Given the description of an element on the screen output the (x, y) to click on. 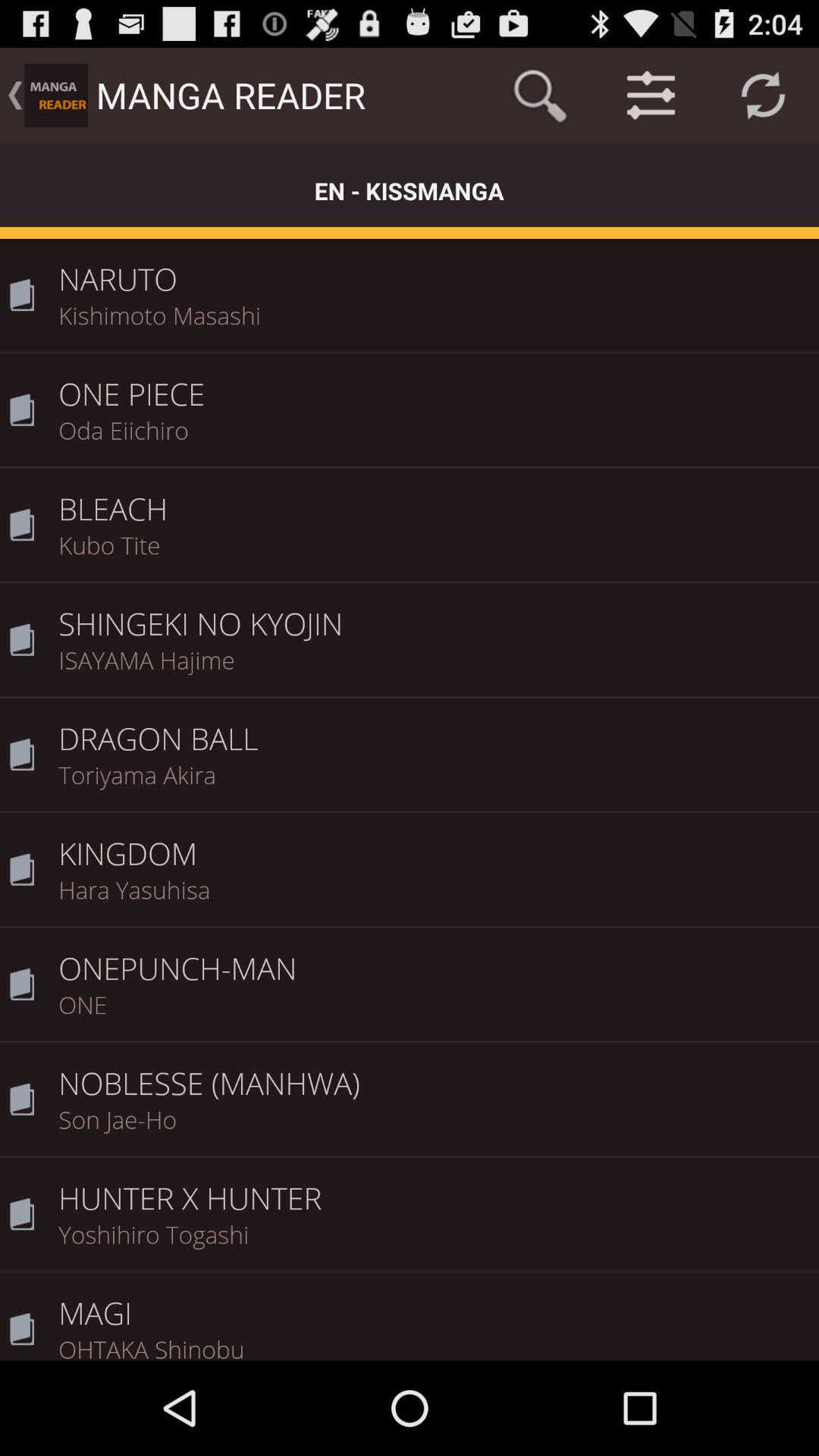
flip until hunter x hunter item (433, 1187)
